Given the description of an element on the screen output the (x, y) to click on. 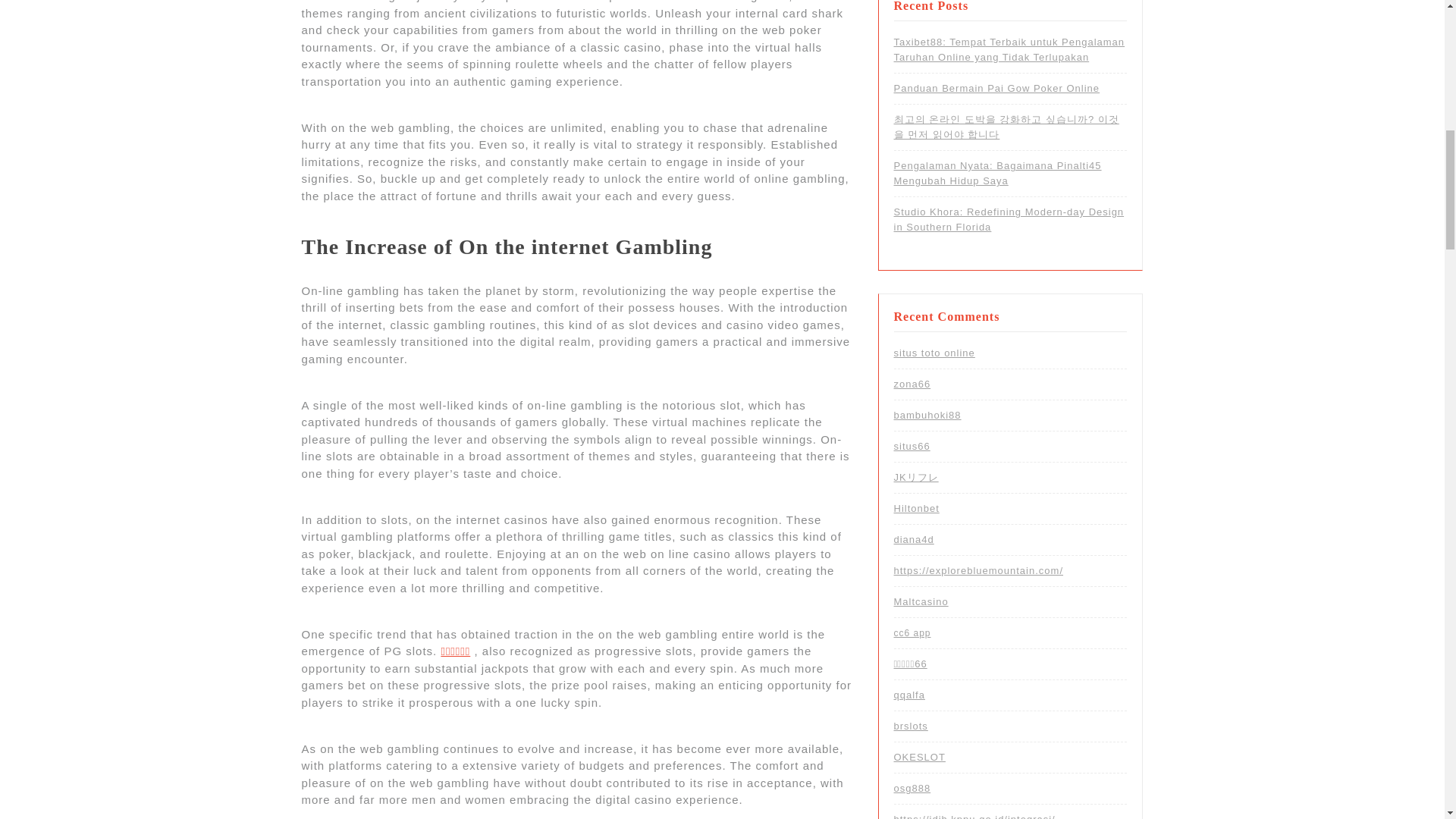
Panduan Bermain Pai Gow Poker Online (996, 88)
qqalfa (908, 695)
Maltcasino (920, 601)
bambuhoki88 (926, 414)
cc6 app (911, 633)
situs toto online (933, 352)
brslots (910, 726)
diana4d (913, 539)
zona66 (911, 383)
